Given the description of an element on the screen output the (x, y) to click on. 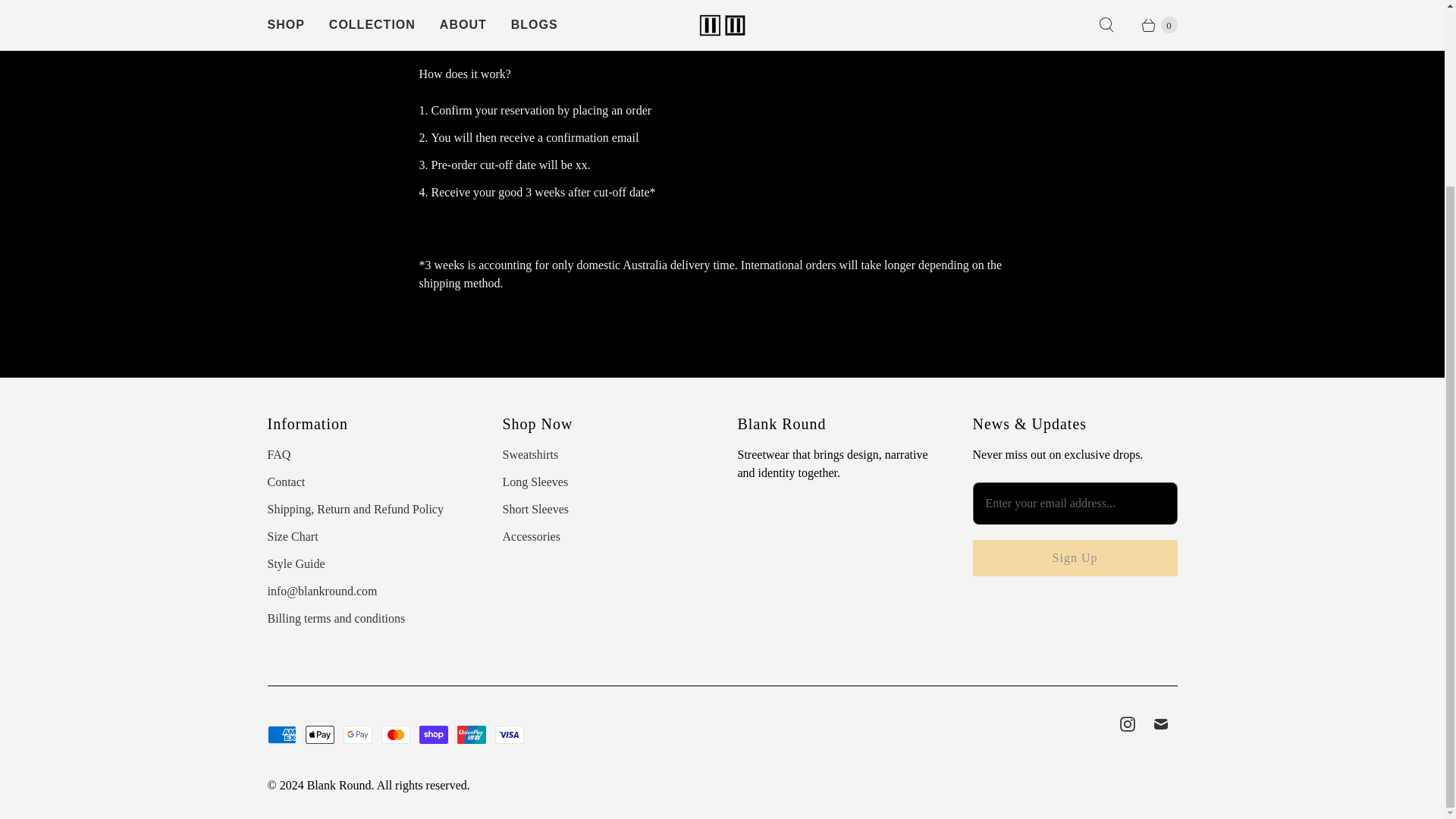
Union Pay (470, 734)
Shipping, Return and Refund Policy (354, 508)
Apple Pay (318, 734)
Long Sleeves (534, 481)
Blank Round (339, 784)
Short Sleeves (535, 508)
Shop Pay (432, 734)
Sweatshirts (529, 454)
Sign Up (1074, 557)
Google Pay (356, 734)
FAQ (277, 454)
American Express (280, 734)
Sign Up (1074, 557)
Mastercard (394, 734)
Size Chart (291, 535)
